Given the description of an element on the screen output the (x, y) to click on. 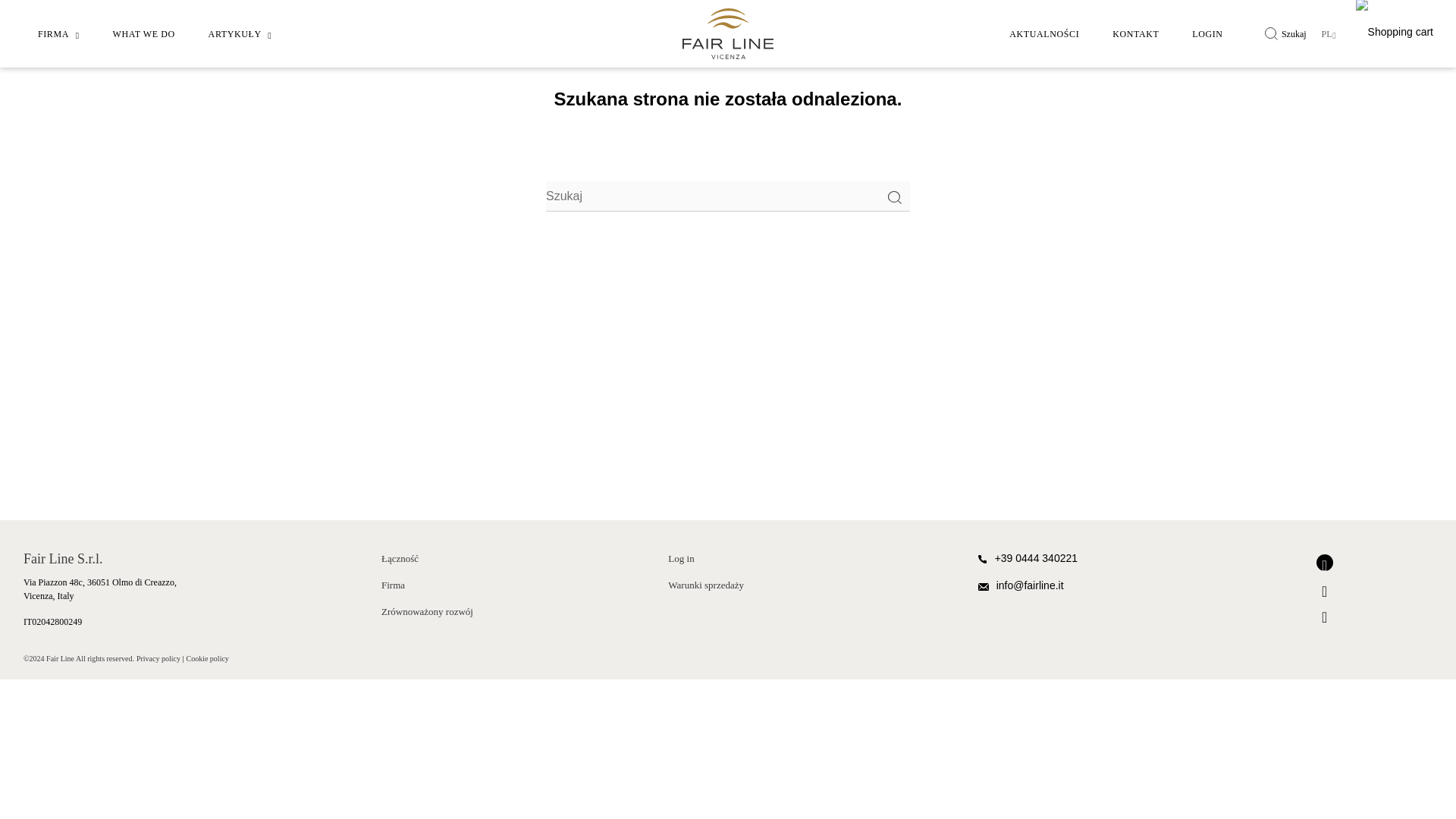
KONTAKT (1135, 33)
LOGIN (1206, 33)
WHAT WE DO (143, 33)
FIRMA (58, 33)
